Given the description of an element on the screen output the (x, y) to click on. 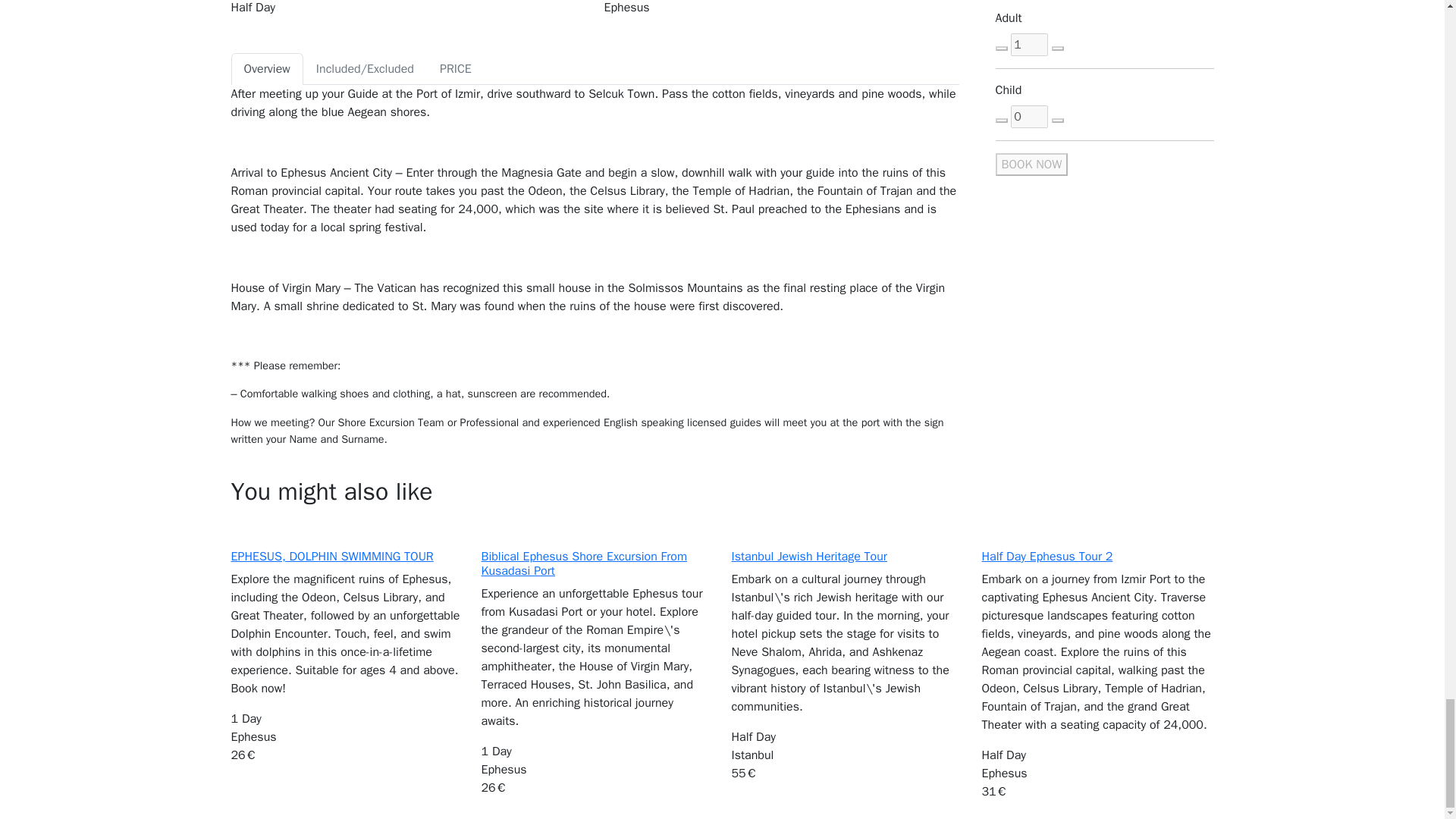
Overview (266, 69)
PRICE (455, 69)
1 (1029, 44)
EPHESUS, DOLPHIN SWIMMING TOUR (331, 556)
0 (1029, 116)
BOOK NOW (1030, 164)
